Given the description of an element on the screen output the (x, y) to click on. 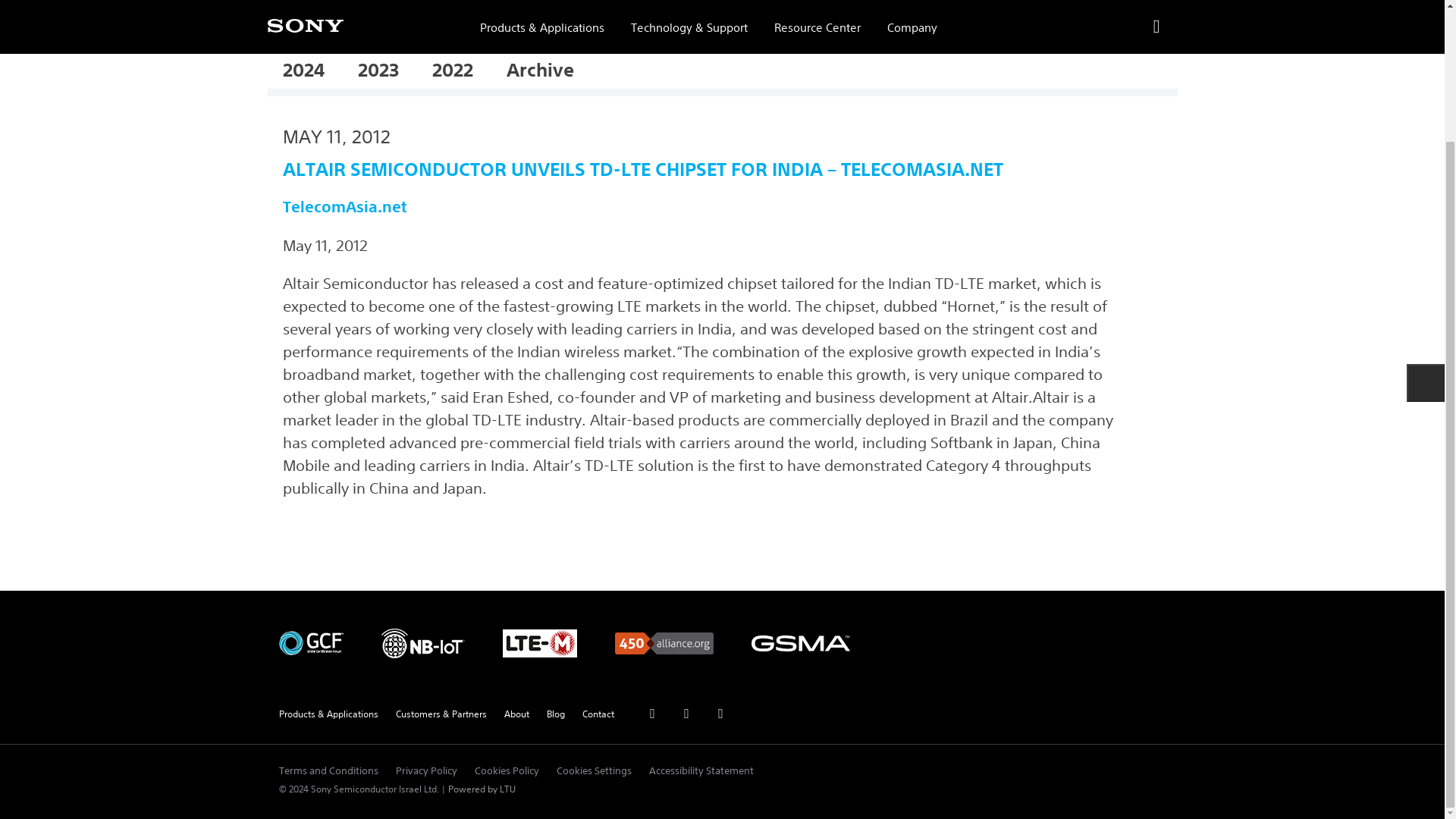
TelecomAsia.net - External link (344, 206)
Powered by LTU - External link (480, 788)
